Given the description of an element on the screen output the (x, y) to click on. 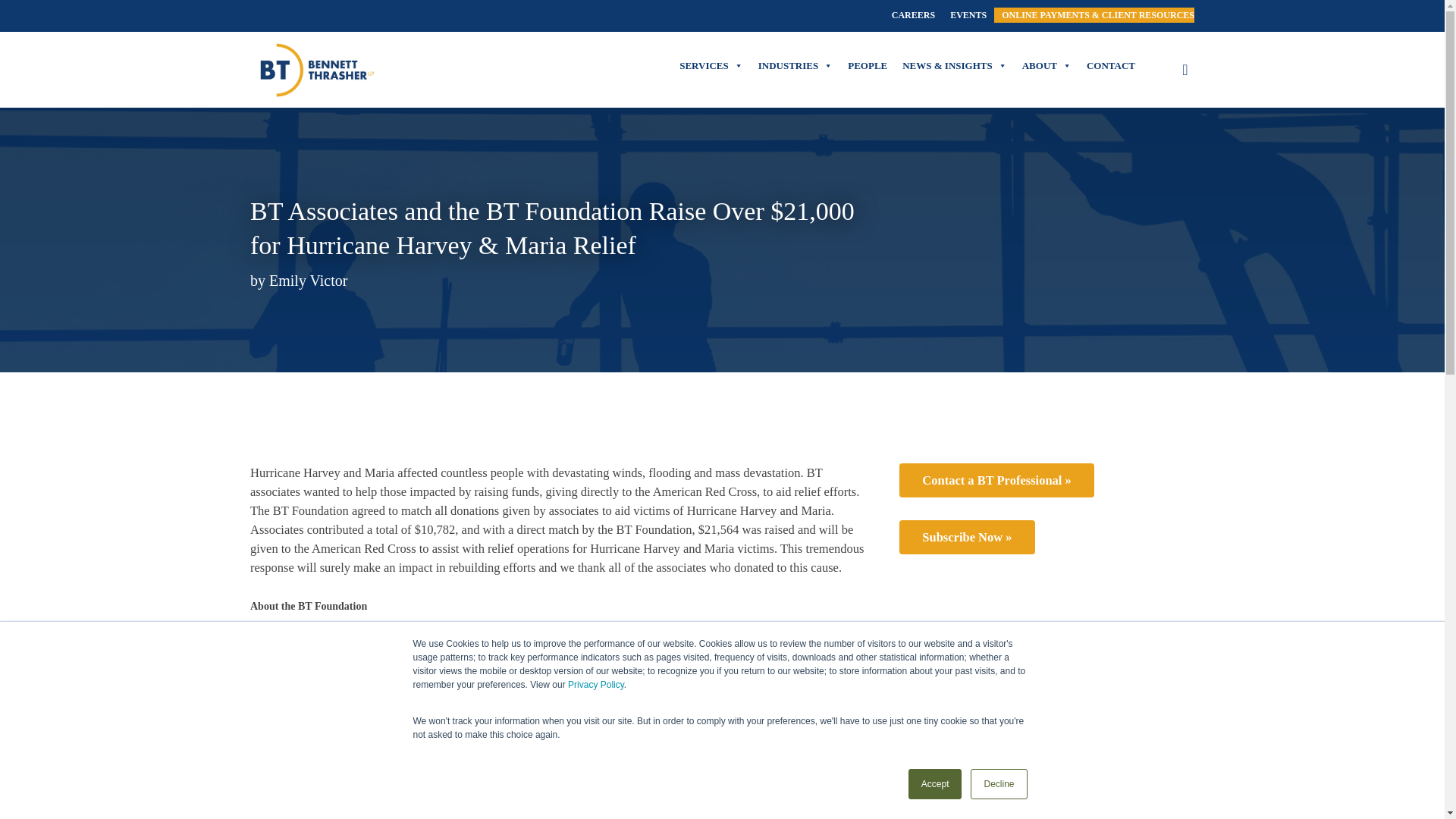
Decline (998, 784)
Accept (935, 784)
SERVICES (711, 65)
Privacy Policy (595, 684)
CAREERS (912, 14)
EVENTS (968, 14)
